Given the description of an element on the screen output the (x, y) to click on. 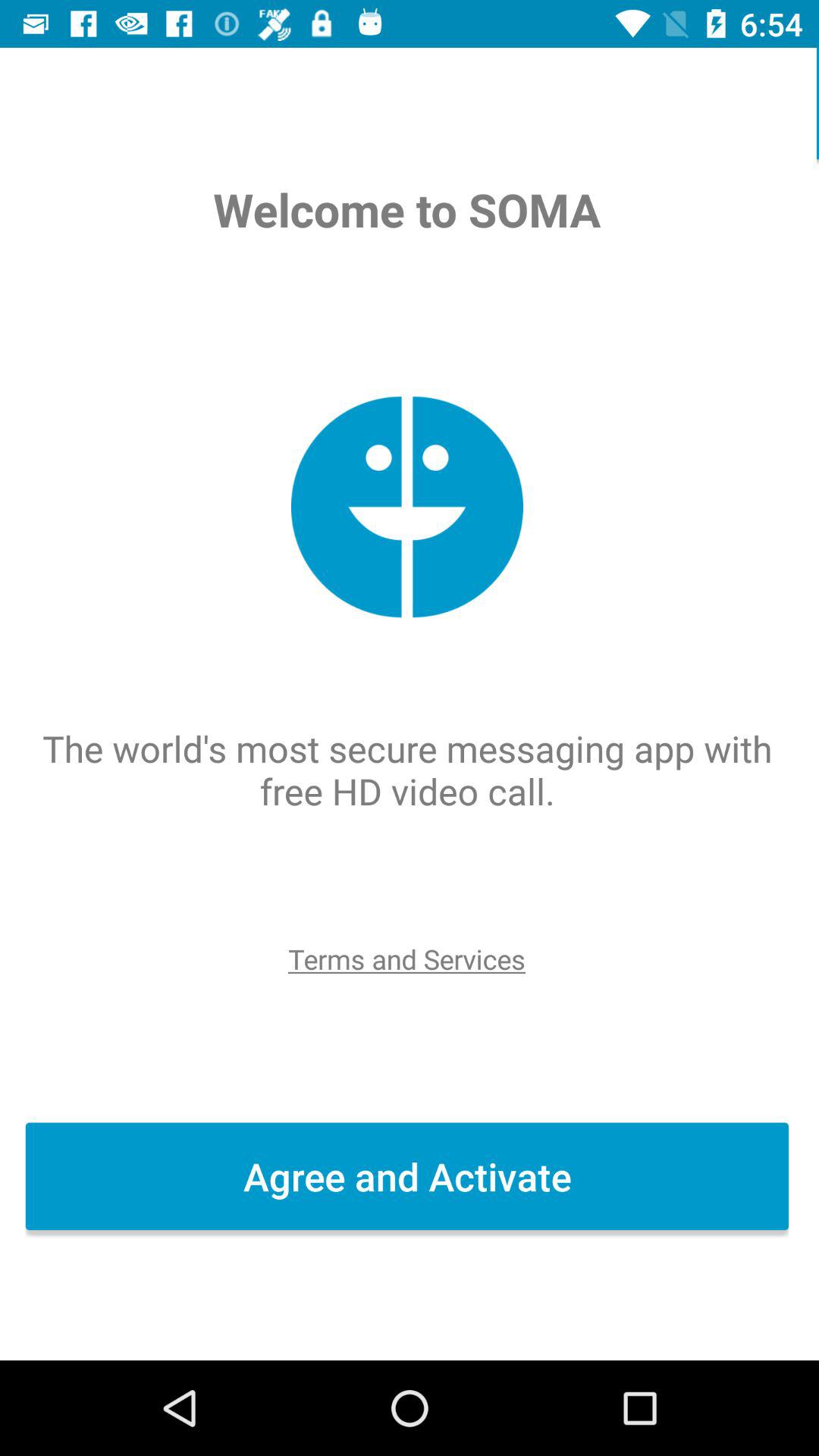
click the item below the world s item (408, 959)
